Given the description of an element on the screen output the (x, y) to click on. 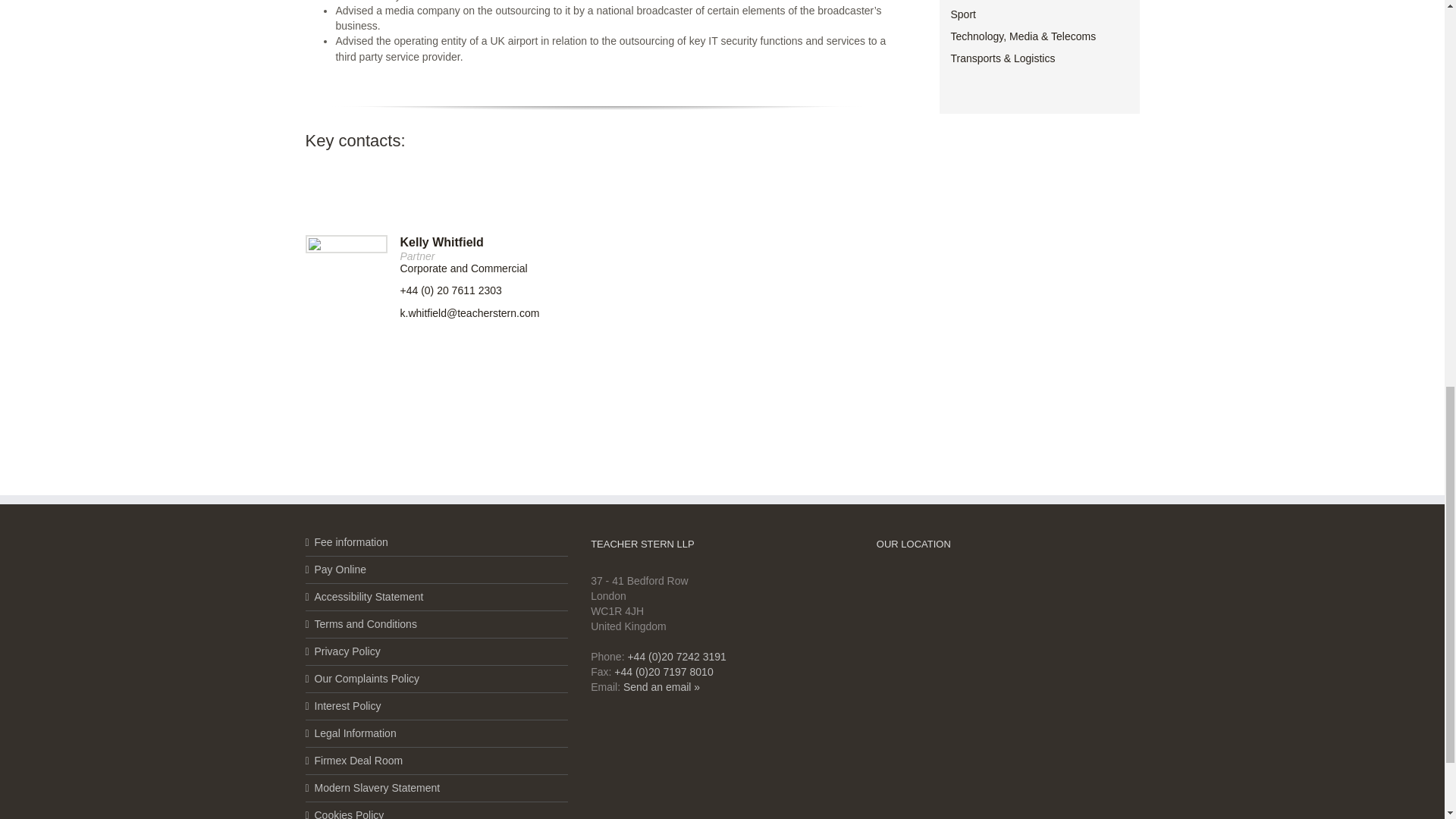
Key contacts: (596, 136)
Photo of Kelly Whitfield (313, 244)
Kelly Whitfield work email. (470, 313)
Corporate and Commercial (463, 268)
Kelly Whitfield (441, 241)
